Given the description of an element on the screen output the (x, y) to click on. 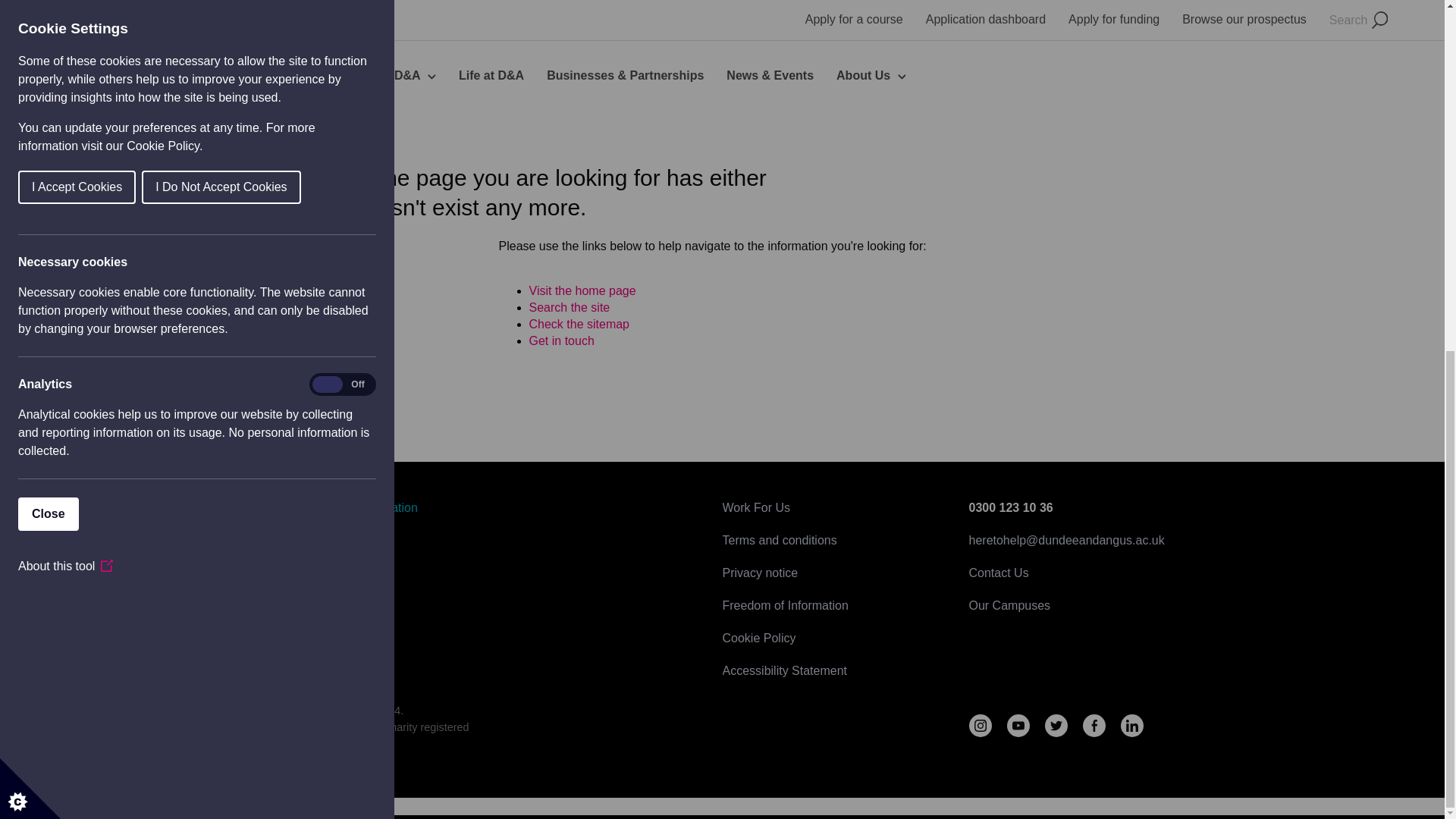
Chat (1406, 169)
Sitemap (579, 323)
Contact us (561, 340)
Search (569, 307)
Home (582, 290)
